Given the description of an element on the screen output the (x, y) to click on. 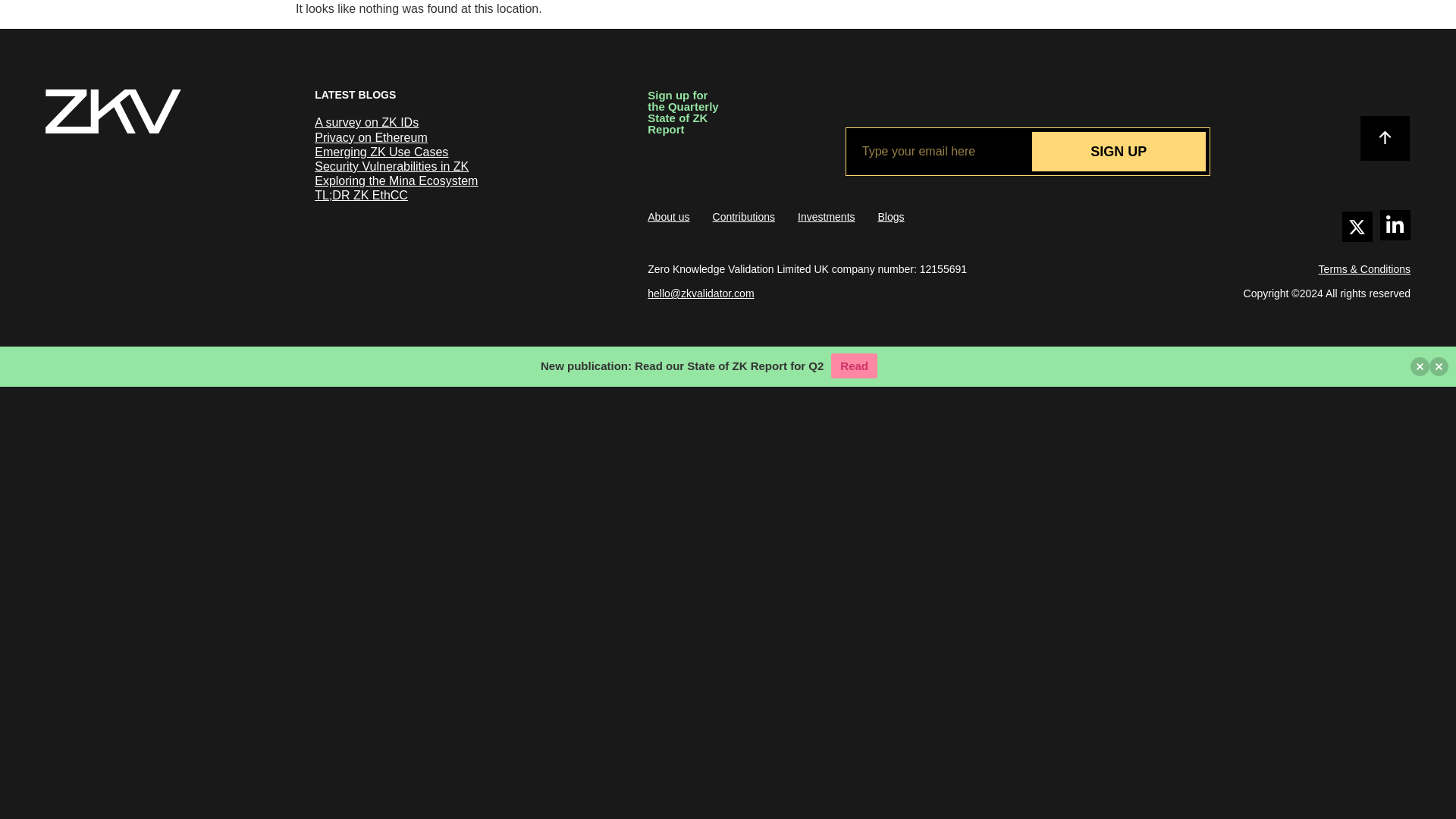
Privacy on Ethereum (371, 137)
TL;DR ZK EthCC (360, 195)
About us (667, 216)
SIGN UP (1117, 151)
Contributions (744, 216)
Exploring the Mina Ecosystem (395, 180)
Security Vulnerabilities in ZK (391, 165)
Investments (825, 216)
Read (854, 365)
Emerging ZK Use Cases (381, 151)
A survey on ZK IDs (366, 122)
